Given the description of an element on the screen output the (x, y) to click on. 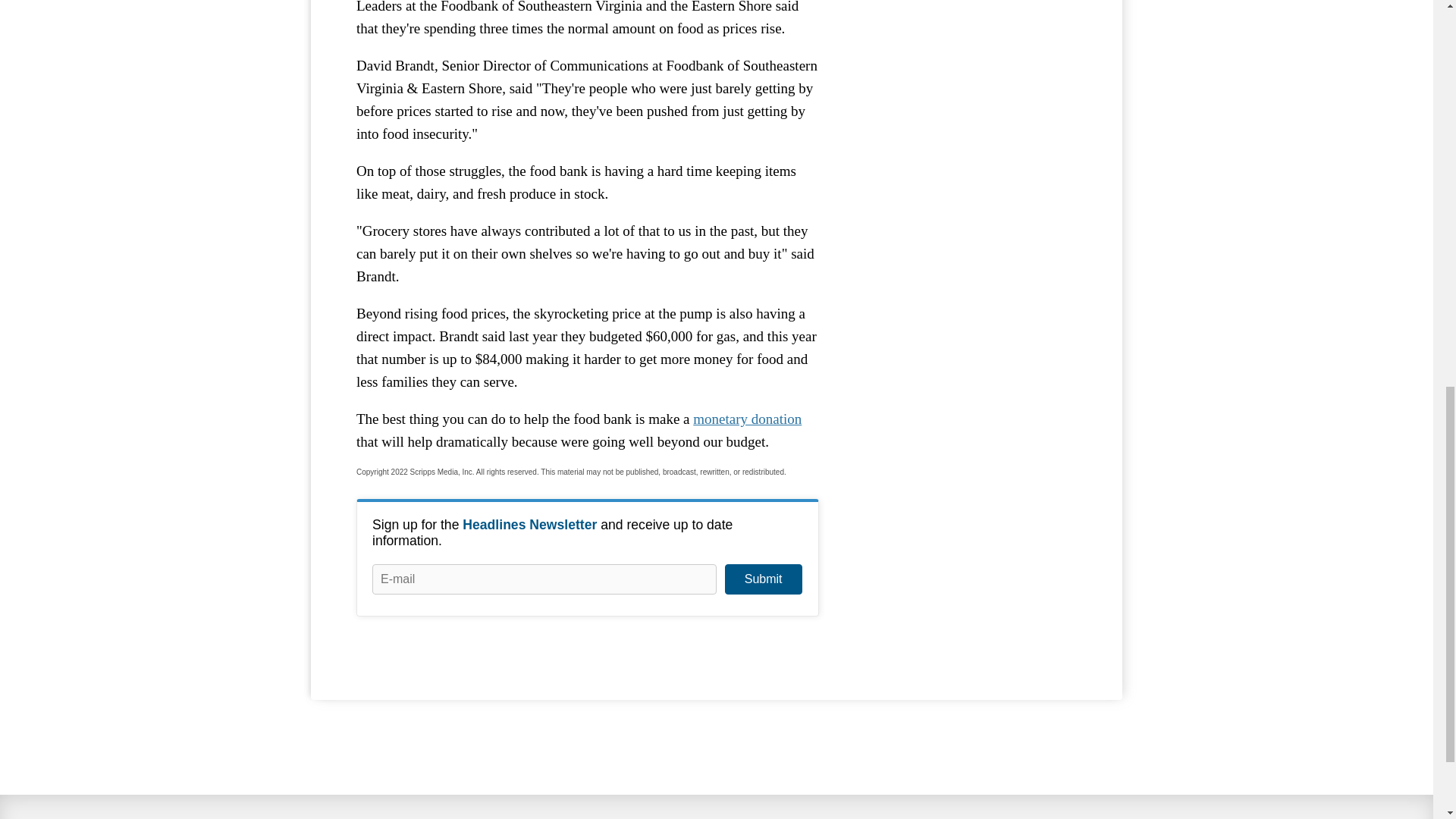
Submit (763, 579)
